Given the description of an element on the screen output the (x, y) to click on. 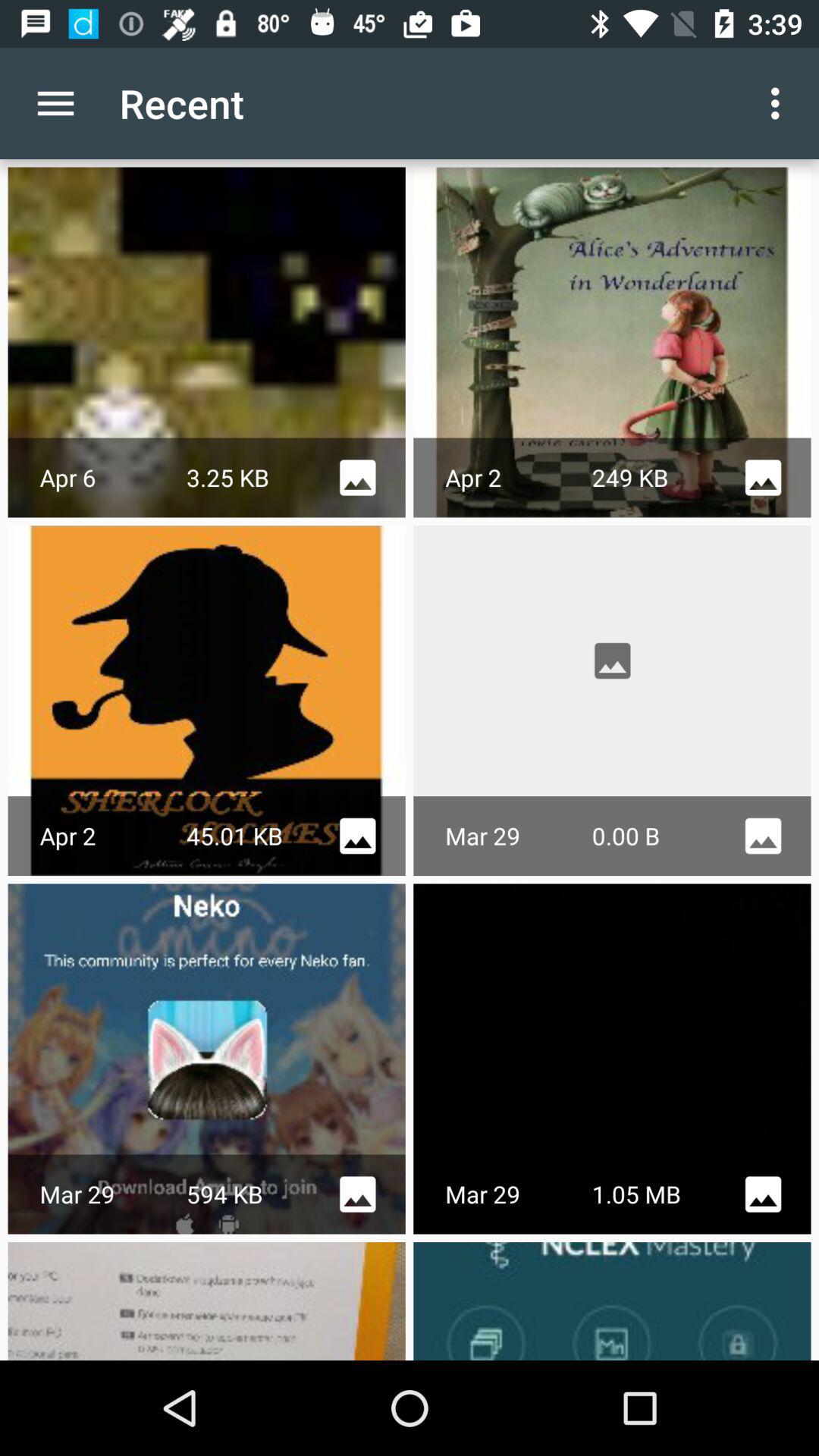
choose the icon to the right of the recent (779, 103)
